Given the description of an element on the screen output the (x, y) to click on. 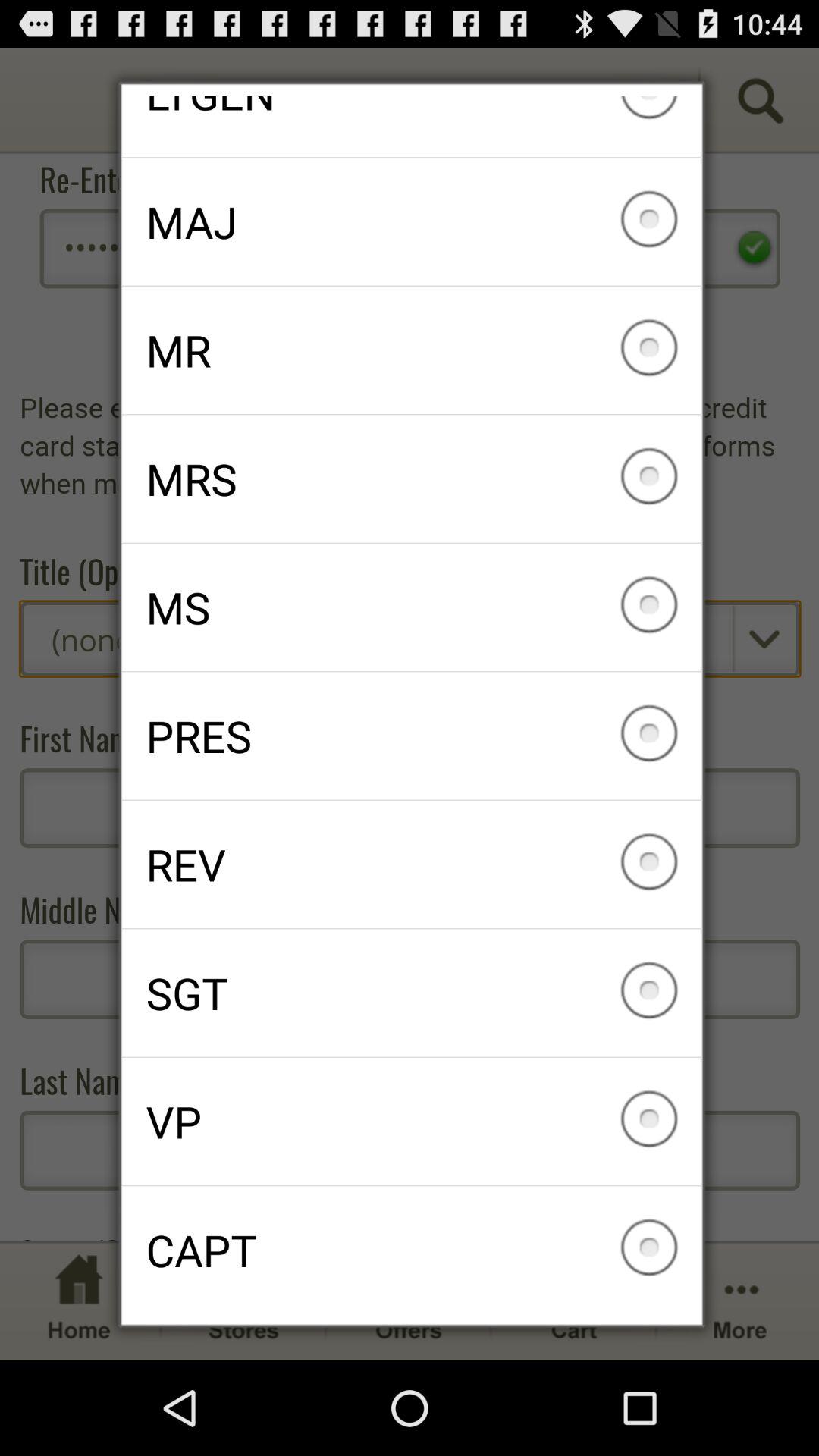
tap checkbox below maj icon (411, 350)
